Given the description of an element on the screen output the (x, y) to click on. 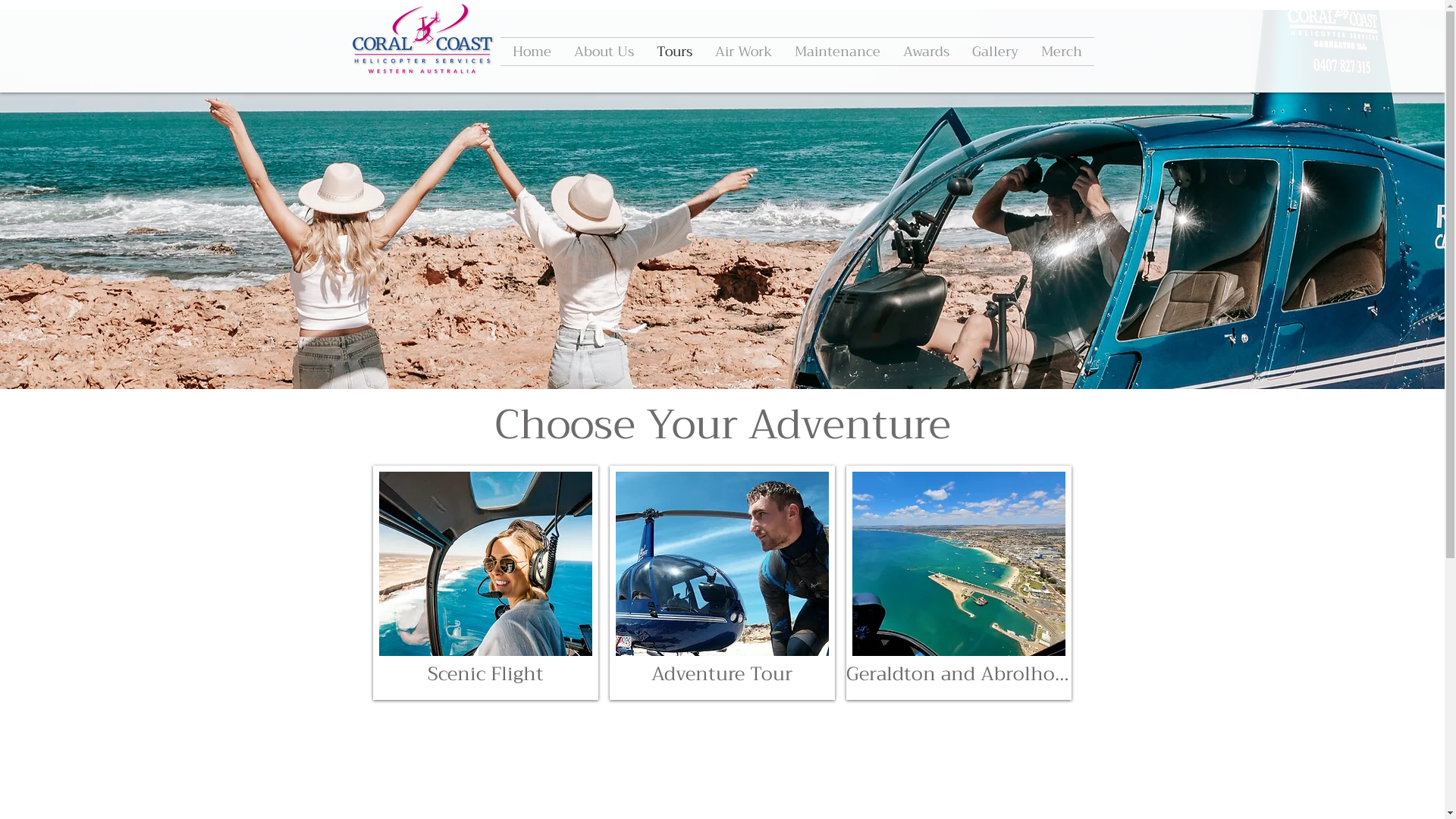
Tours Element type: text (673, 51)
Maintenance Element type: text (836, 51)
Scenic Flight Element type: text (485, 582)
Home Element type: text (530, 51)
About Us Element type: text (603, 51)
Geraldton and Abrolhos Island Flights Element type: text (958, 582)
Awards Element type: text (925, 51)
Merch Element type: text (1061, 51)
Gallery Element type: text (994, 51)
Adventure Tour Element type: text (721, 582)
Air Work Element type: text (743, 51)
